Given the description of an element on the screen output the (x, y) to click on. 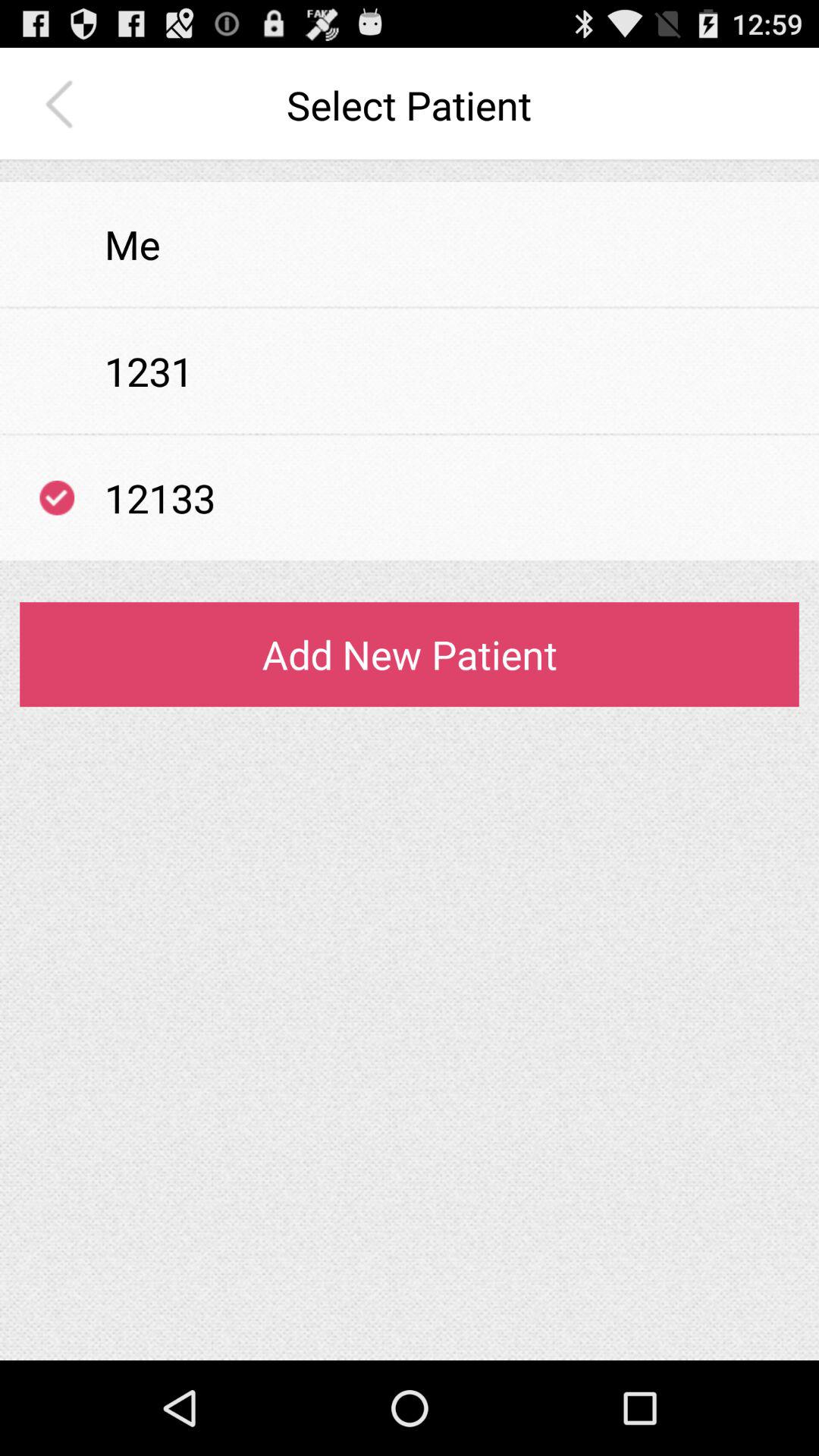
click 1231 icon (148, 370)
